Given the description of an element on the screen output the (x, y) to click on. 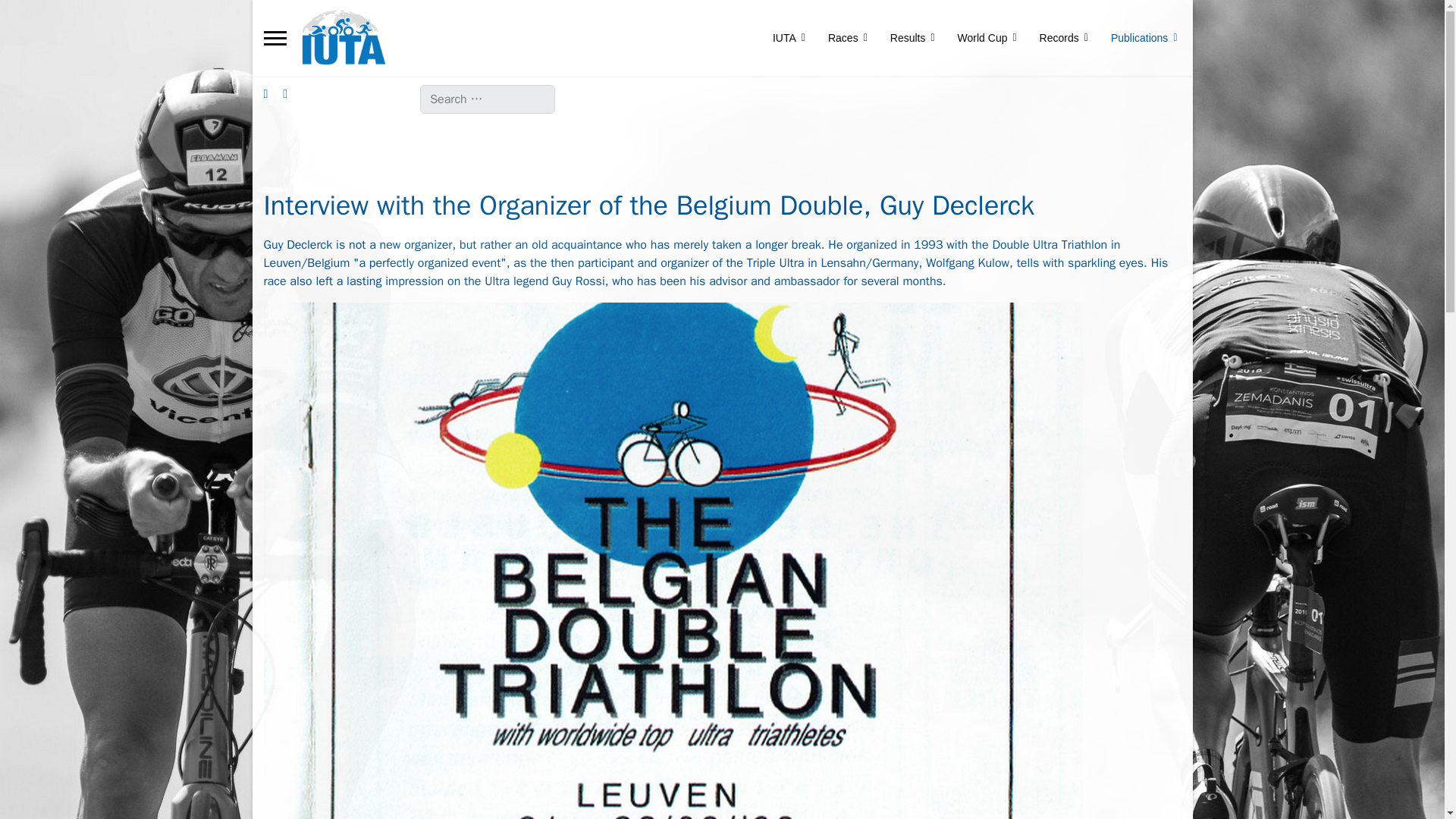
World Cup (986, 38)
Results (912, 38)
